Given the description of an element on the screen output the (x, y) to click on. 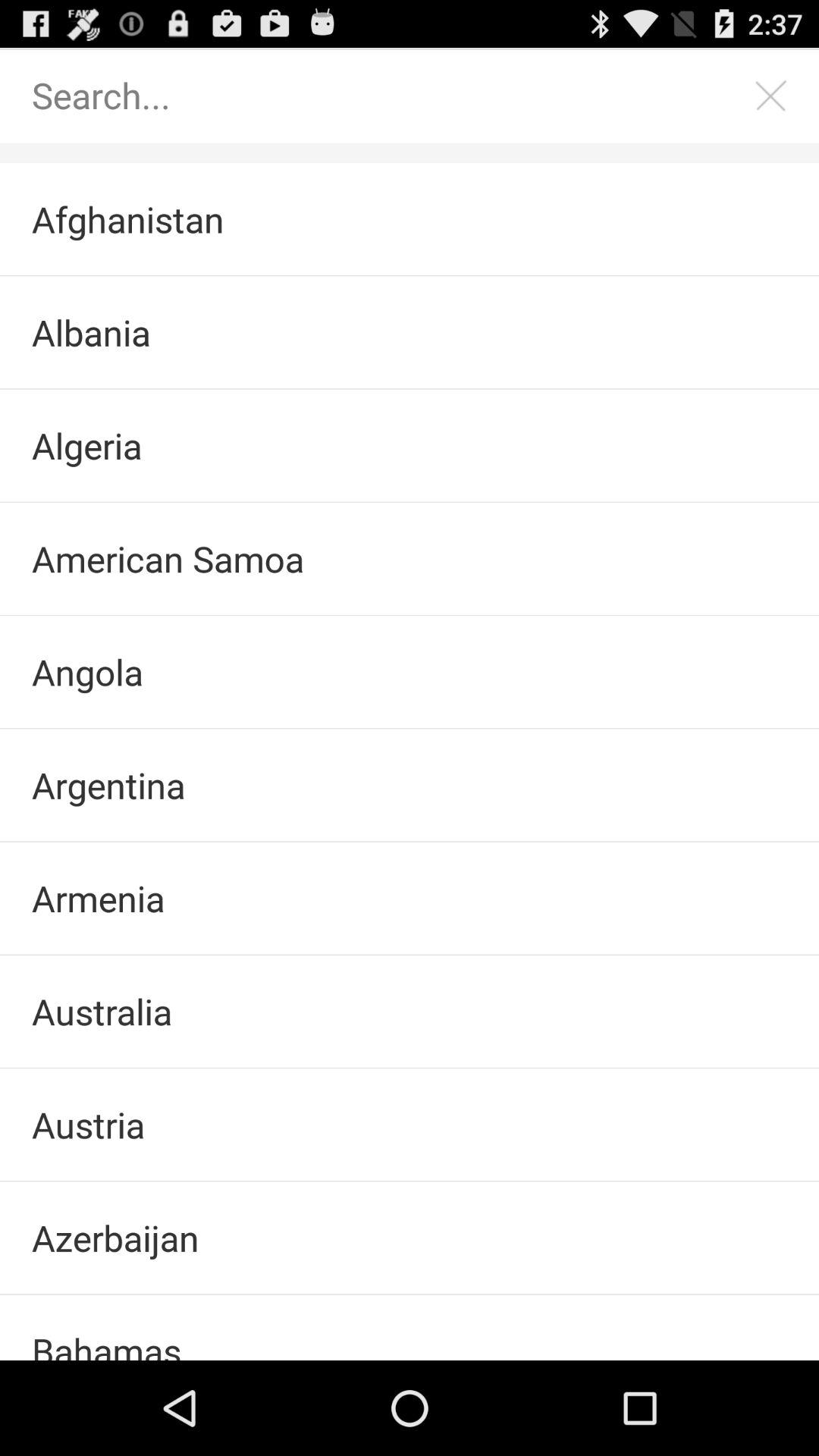
tap bahamas item (409, 1327)
